Given the description of an element on the screen output the (x, y) to click on. 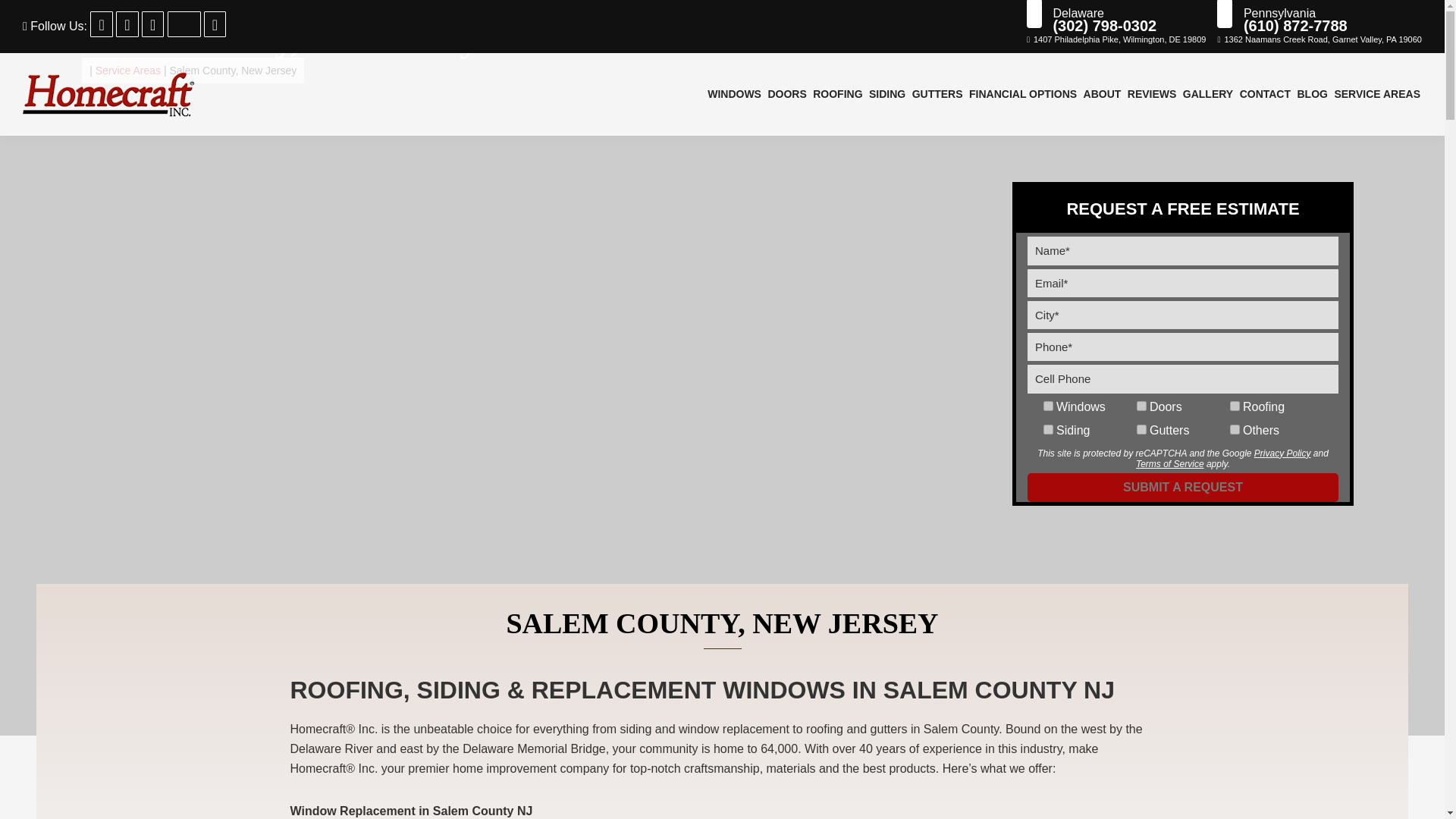
Others (1235, 429)
Siding (1047, 429)
Homecraft Inc. (109, 94)
Submit A Request (1182, 487)
Angie's List (183, 23)
Roofing (1235, 406)
Doors (1140, 406)
Gutters (1140, 429)
Windows (1047, 406)
